Given the description of an element on the screen output the (x, y) to click on. 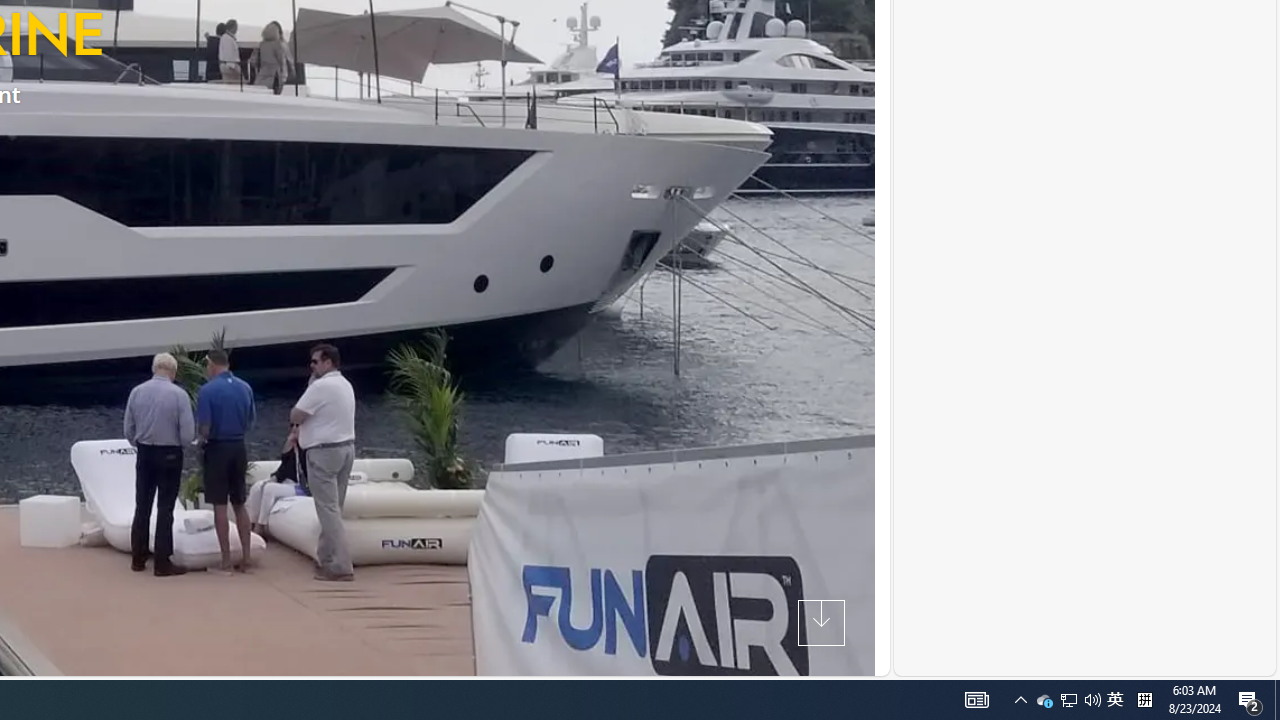
Next Section (820, 622)
